Given the description of an element on the screen output the (x, y) to click on. 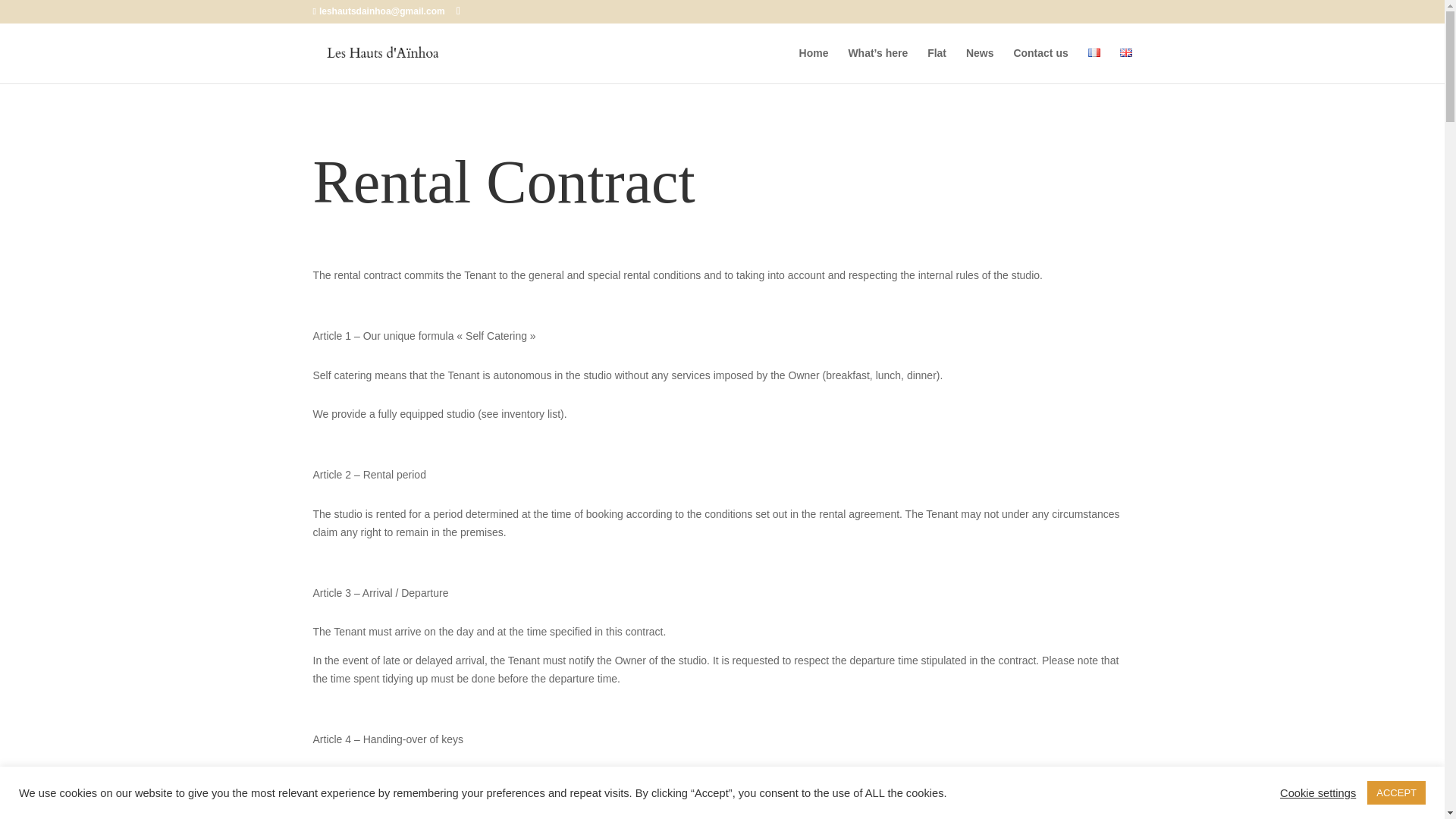
Contact us (1040, 65)
Cookie settings (1317, 792)
ACCEPT (1396, 792)
